Given the description of an element on the screen output the (x, y) to click on. 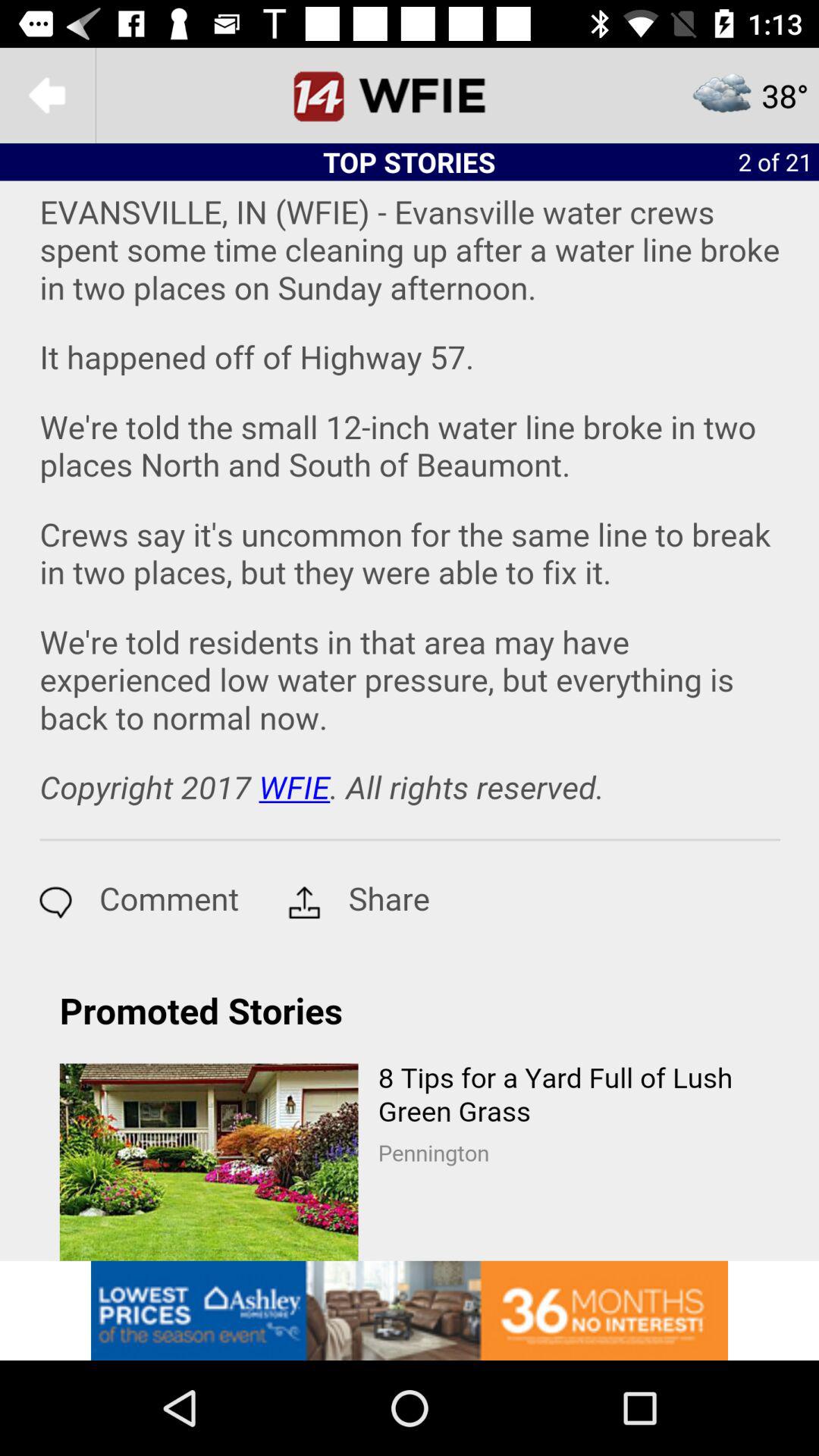
go back (47, 95)
